Given the description of an element on the screen output the (x, y) to click on. 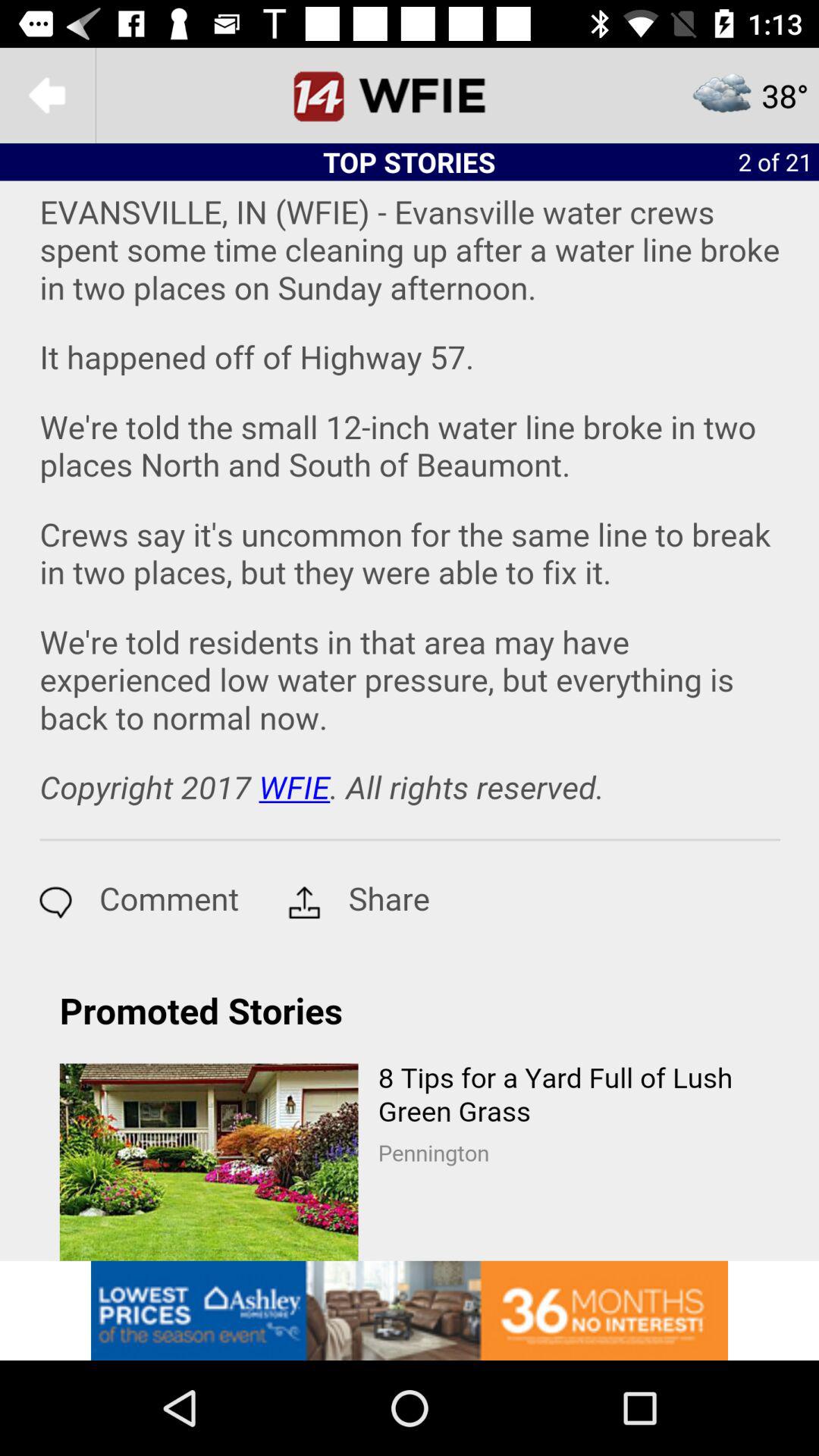
go back (47, 95)
